Given the description of an element on the screen output the (x, y) to click on. 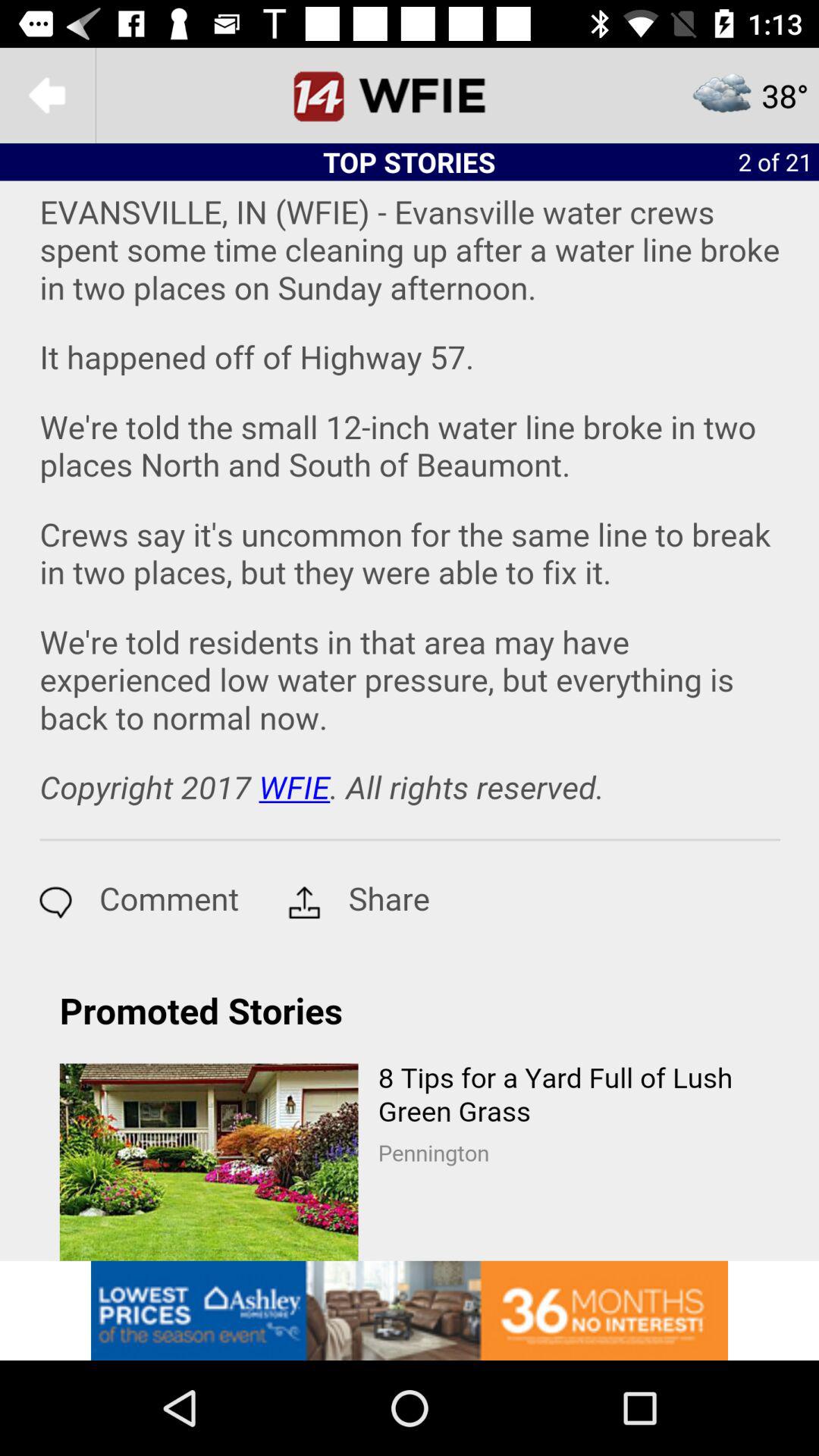
go back (47, 95)
